Given the description of an element on the screen output the (x, y) to click on. 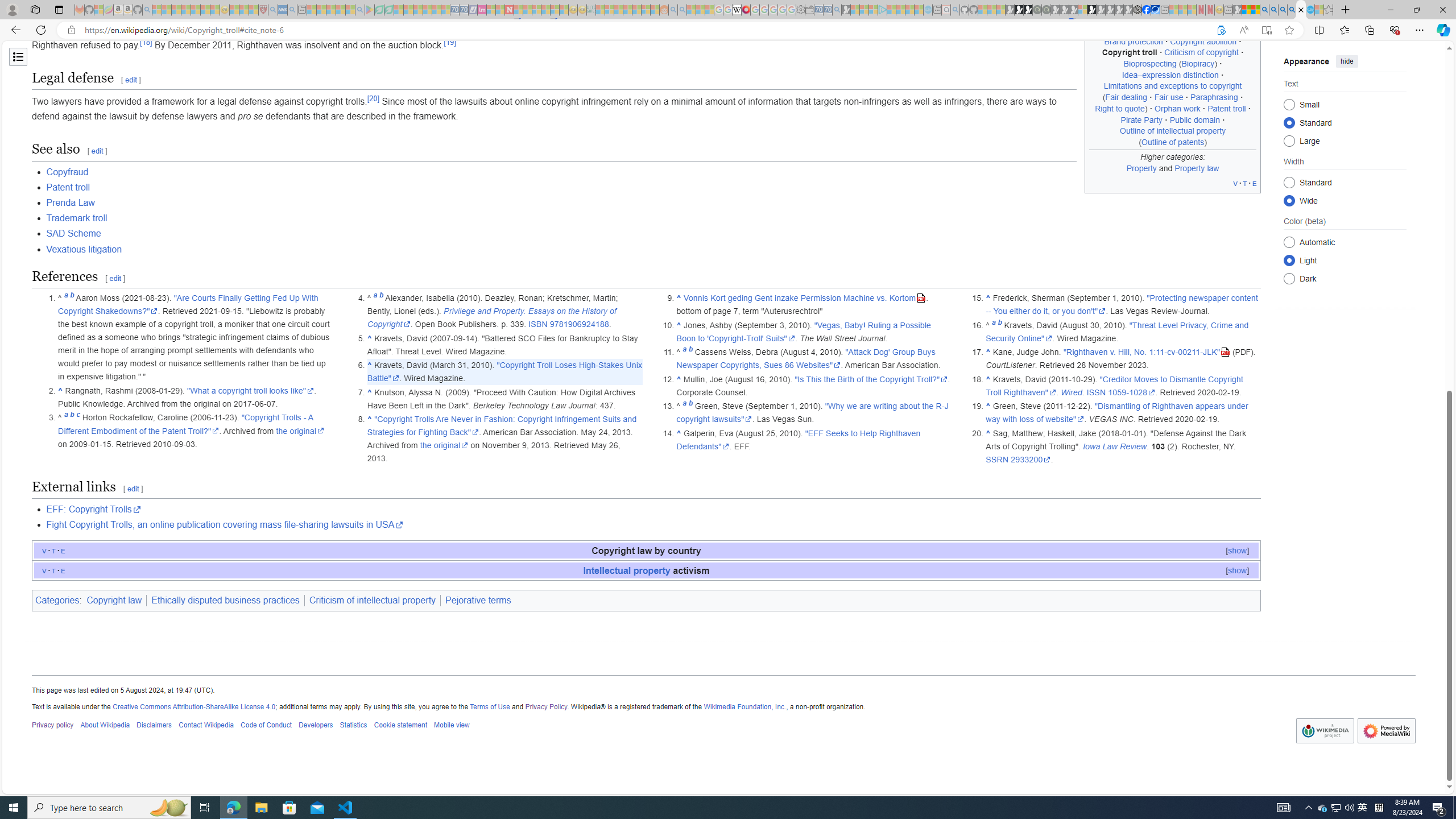
b (999, 325)
t (52, 569)
Disclaimers (153, 725)
Copyfraud (653, 171)
About Wikipedia (104, 725)
Copyright law (115, 600)
[show] (1237, 570)
Powered by MediaWiki (1386, 730)
Categories (57, 600)
